Given the description of an element on the screen output the (x, y) to click on. 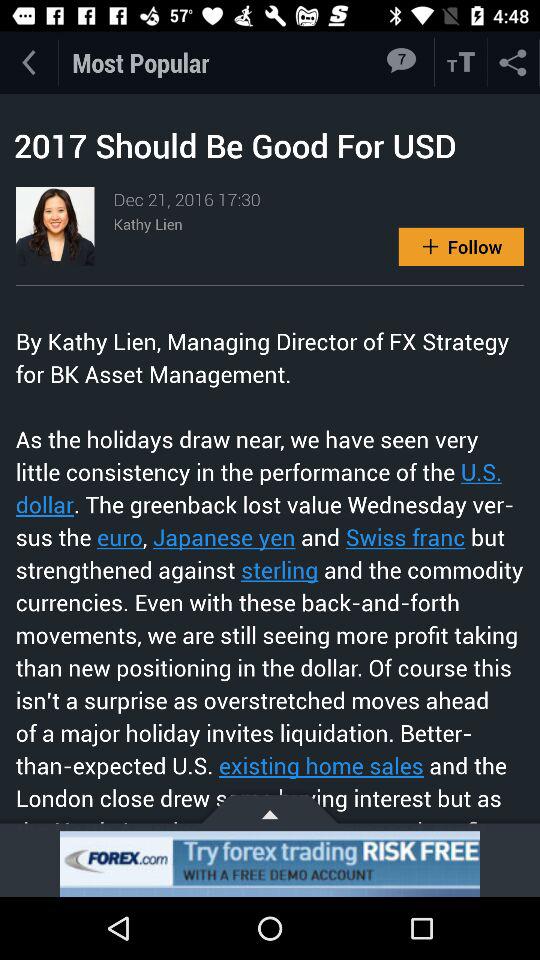
click on to add or follow this story (461, 246)
